Given the description of an element on the screen output the (x, y) to click on. 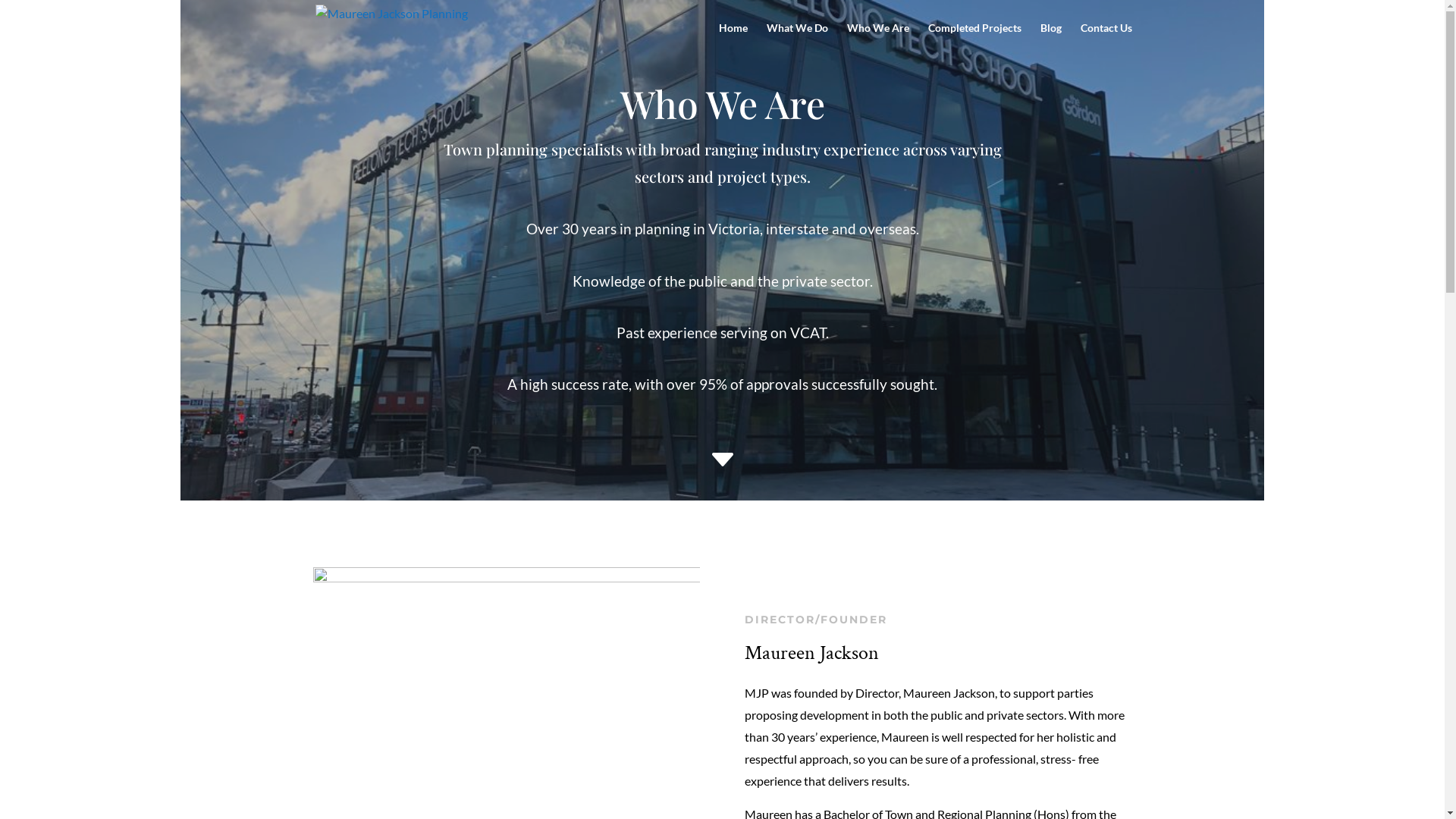
What We Do Element type: text (796, 39)
Completed Projects Element type: text (974, 39)
Blog Element type: text (1050, 39)
Who We Are Element type: text (877, 39)
C Element type: text (721, 462)
Contact Us Element type: text (1105, 39)
Home Element type: text (732, 39)
